Given the description of an element on the screen output the (x, y) to click on. 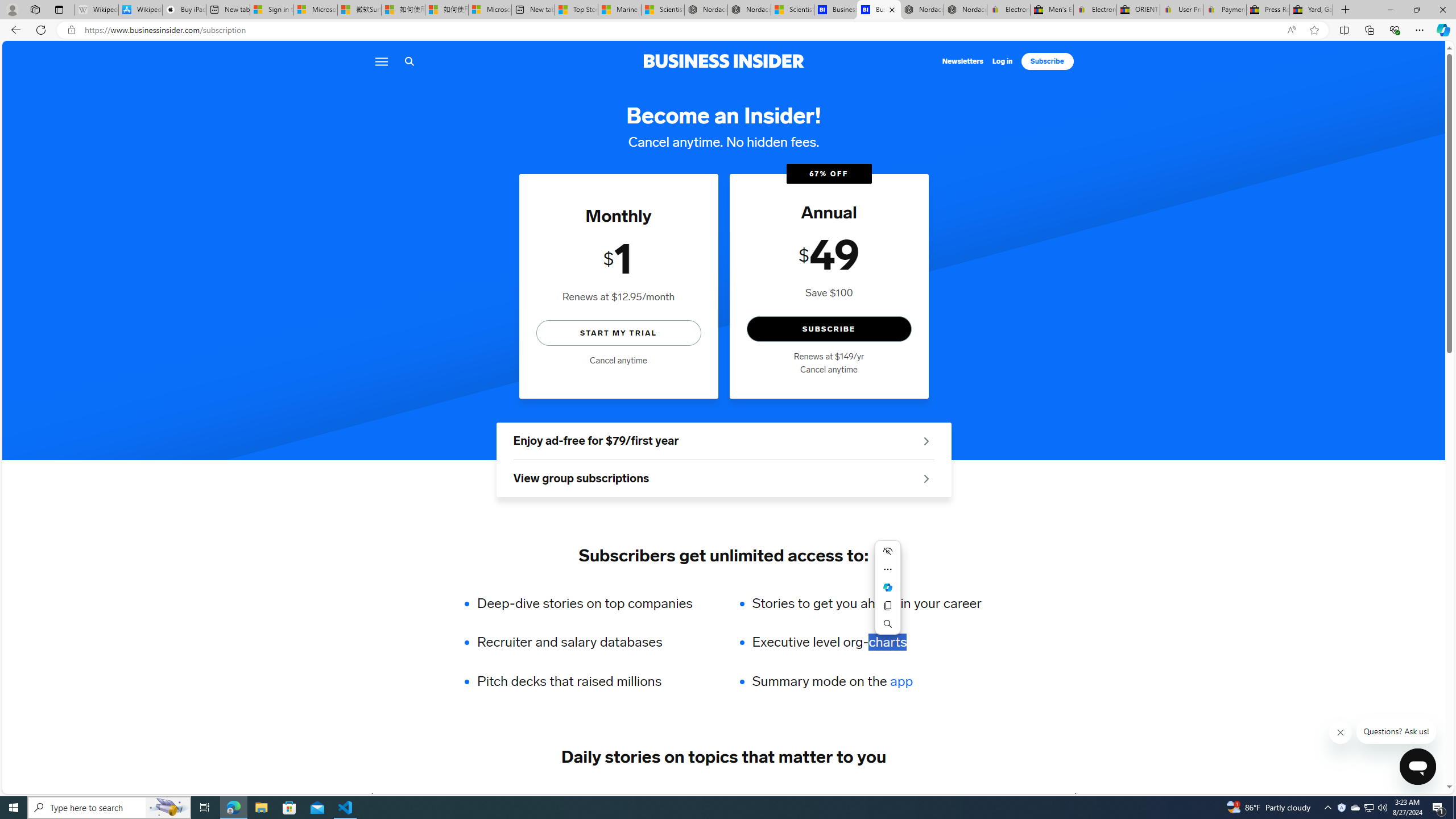
Menu (380, 61)
RETAIL (544, 796)
Mini menu on text selection (887, 586)
Newsletters (963, 61)
Press Room - eBay Inc. (1267, 9)
Marine life - MSN (619, 9)
Hide menu (887, 551)
STRATEGY (1012, 796)
